Given the description of an element on the screen output the (x, y) to click on. 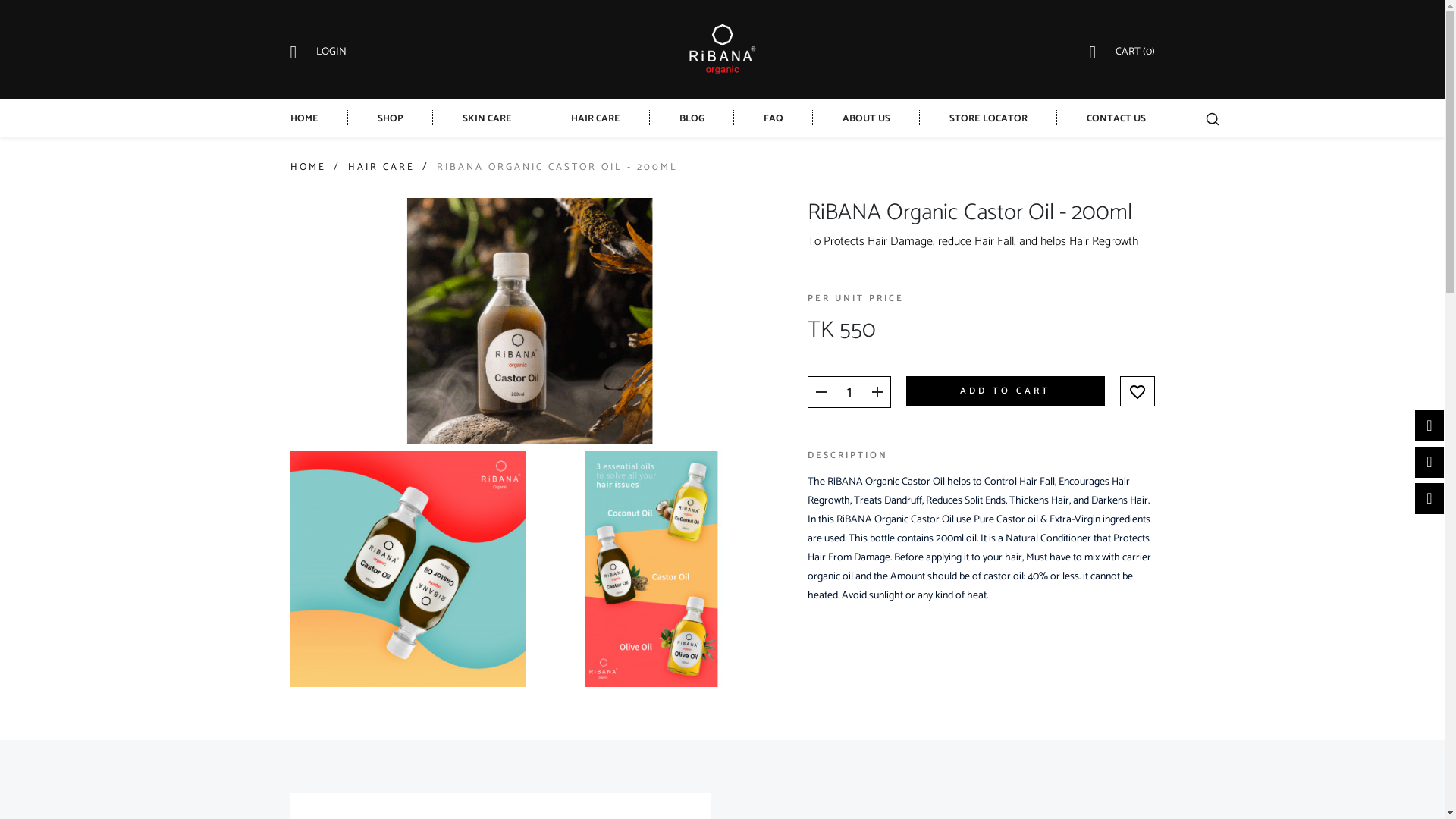
ABOUT US Element type: text (865, 117)
favorite_border Element type: text (1136, 391)
HOME Element type: text (307, 167)
RiBANA Organic Castor Oil - 200ml Element type: hover (529, 320)
RiBANA Organic Castor Oil - 200ml Element type: hover (651, 569)
CONTACT US Element type: text (1115, 117)
SHOP Element type: text (390, 117)
RiBANA Organic Castor Oil - 200ml Element type: hover (407, 569)
HOME Element type: text (303, 117)
SKIN CARE Element type: text (486, 117)
HAIR CARE Element type: text (380, 167)
ADD TO CART Element type: text (1005, 391)
HAIR CARE Element type: text (594, 117)
RIBANA ORGANIC CASTOR OIL - 200ML Element type: text (556, 167)
FAQ Element type: text (772, 117)
BLOG Element type: text (691, 117)
STORE LOCATOR Element type: text (988, 117)
LOGIN Element type: text (330, 51)
